Given the description of an element on the screen output the (x, y) to click on. 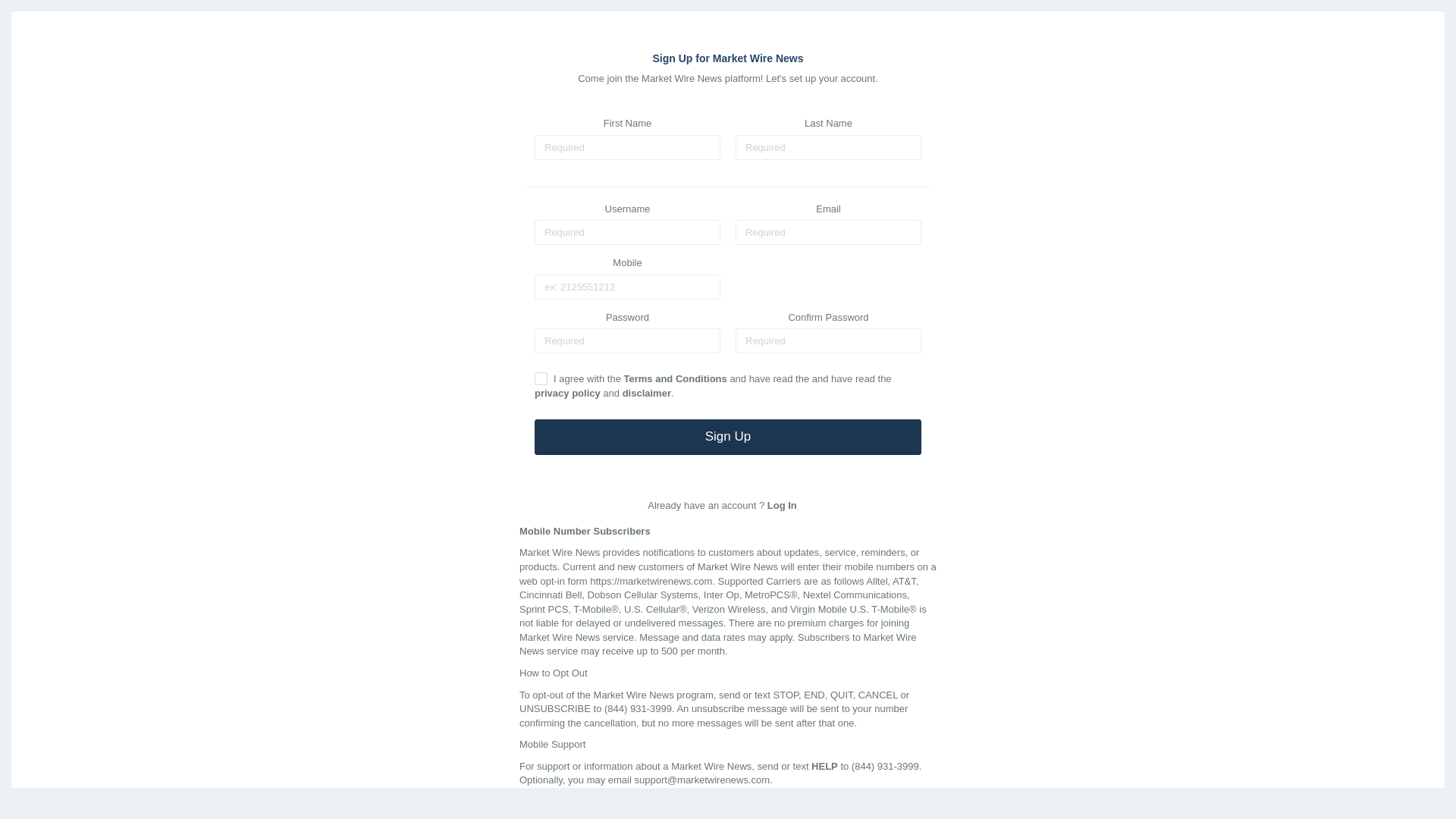
Log In (781, 505)
Terms and Conditions (674, 378)
disclaimer (647, 392)
privacy policy (566, 392)
Sign Up (727, 436)
Sign Up (727, 436)
